Given the description of an element on the screen output the (x, y) to click on. 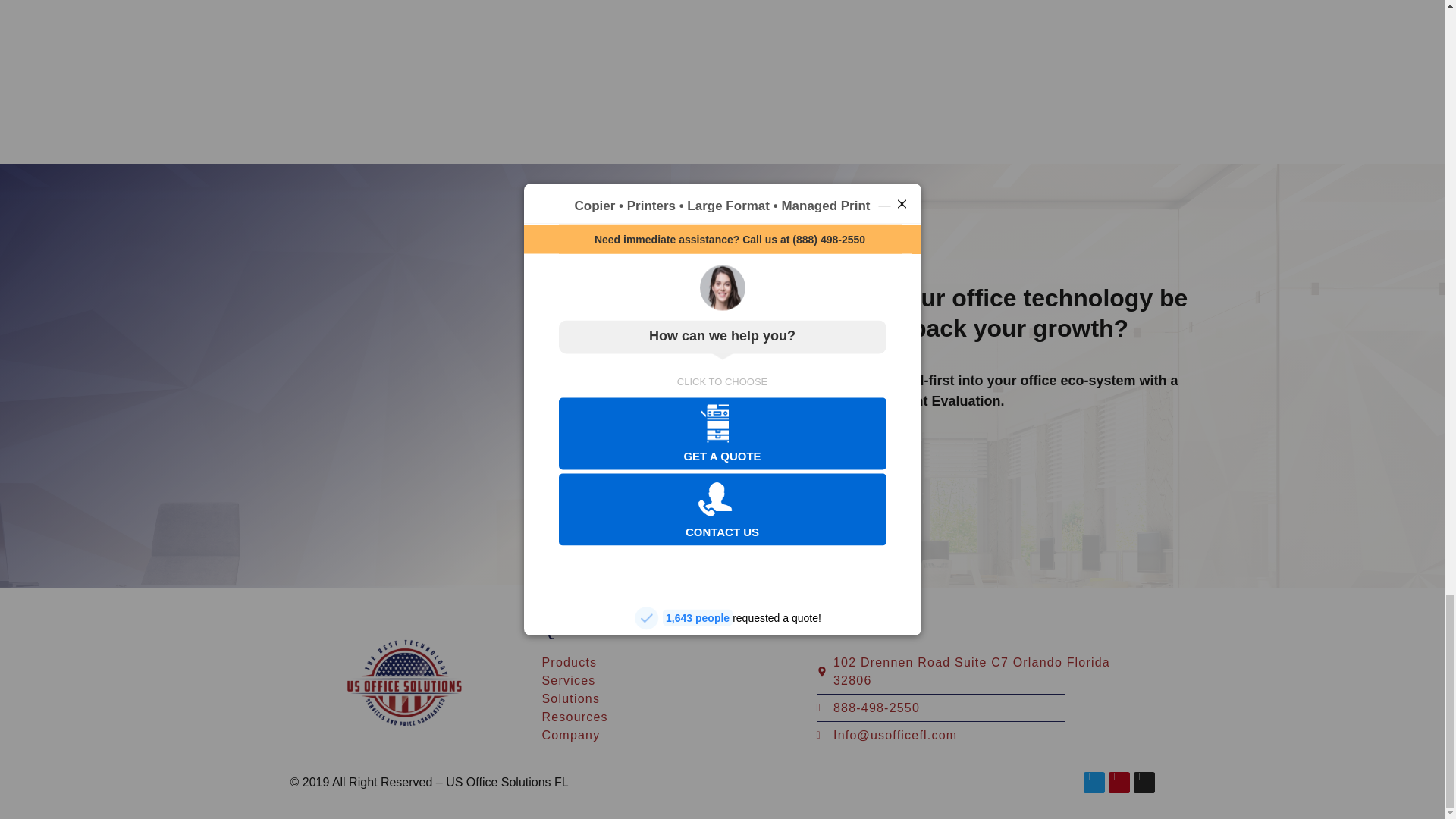
Products (663, 662)
888-498-2550 (981, 708)
Resources (663, 717)
Services (663, 680)
Company (663, 735)
Solutions (663, 699)
